Given the description of an element on the screen output the (x, y) to click on. 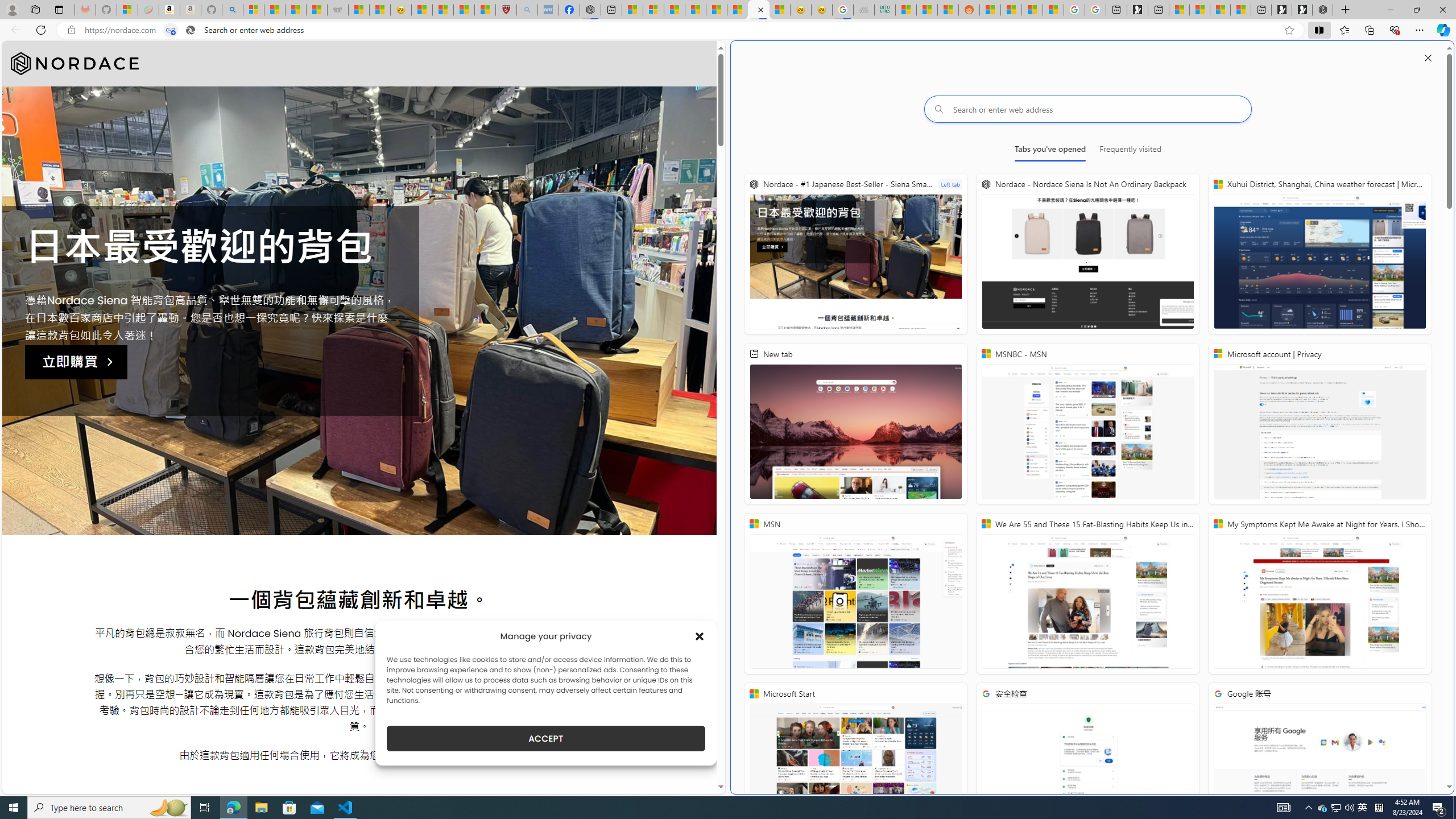
R******* | Trusted Community Engagement and Contributions (990, 9)
Nordace (74, 63)
Microsoft account | Privacy (652, 9)
Recipes - MSN (421, 9)
ACCEPT (545, 738)
Close split screen (1428, 57)
New tab (1261, 9)
Refresh (40, 29)
MSNBC - MSN (906, 9)
Tabs in split screen (170, 29)
Close tab (760, 9)
